Given the description of an element on the screen output the (x, y) to click on. 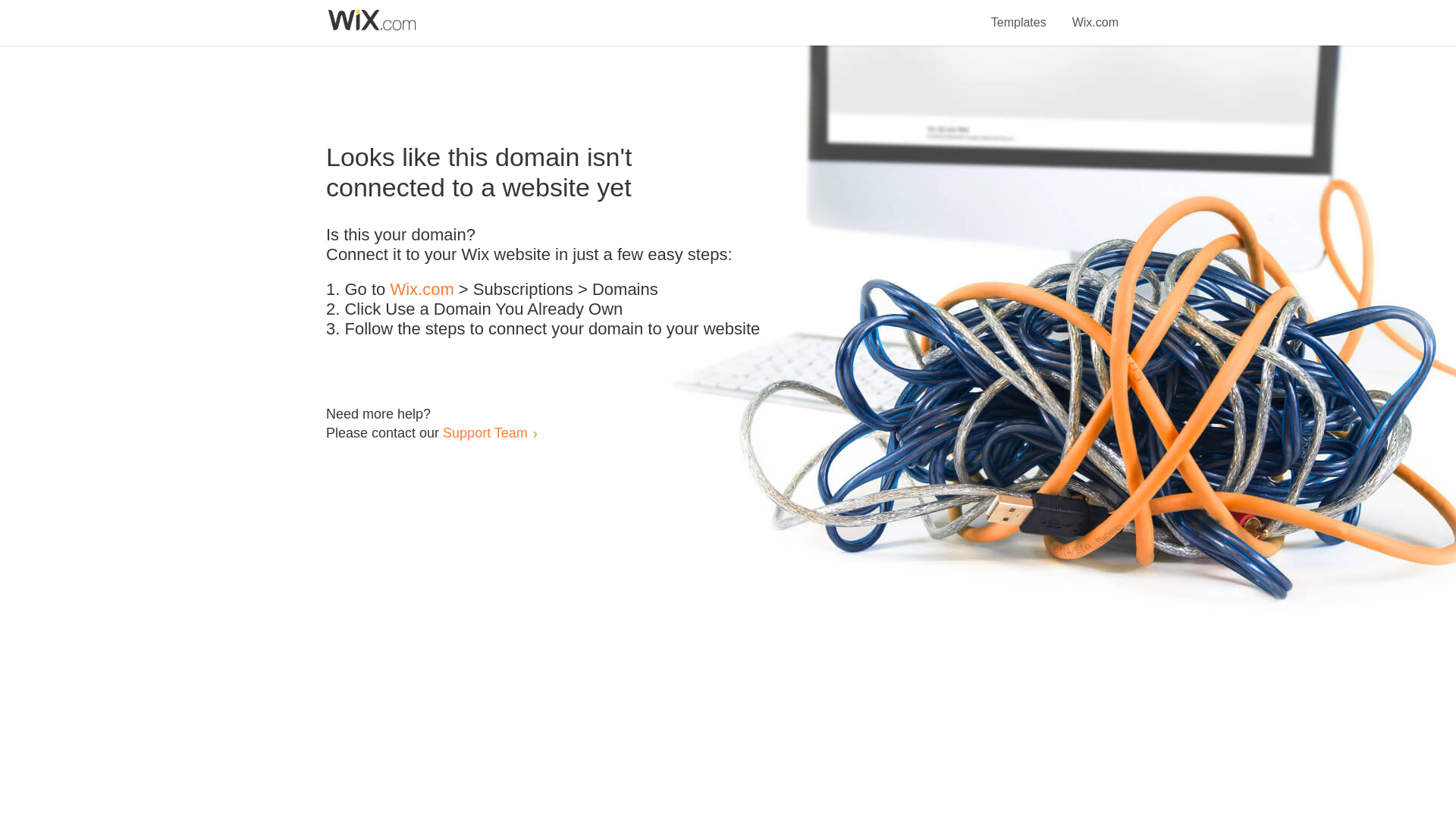
Wix.com (1095, 14)
Support Team (484, 432)
Wix.com (421, 289)
Templates (1018, 14)
